Given the description of an element on the screen output the (x, y) to click on. 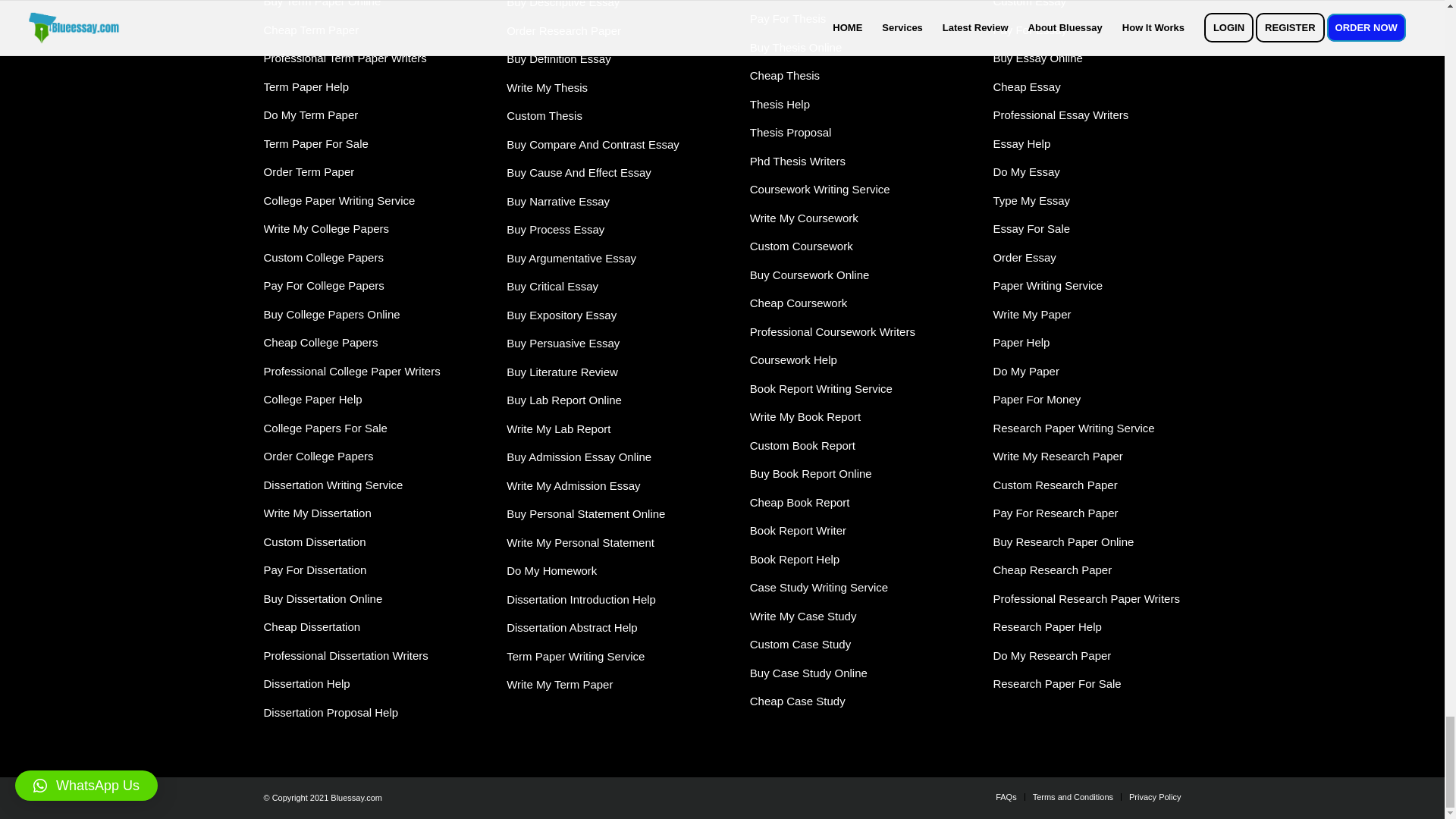
Cheap Term Paper (311, 29)
Term Paper For Sale (315, 143)
Do My Term Paper (310, 114)
Term Paper Help (306, 86)
Buy Term Paper Online (322, 3)
Professional Term Paper Writers (344, 57)
